Given the description of an element on the screen output the (x, y) to click on. 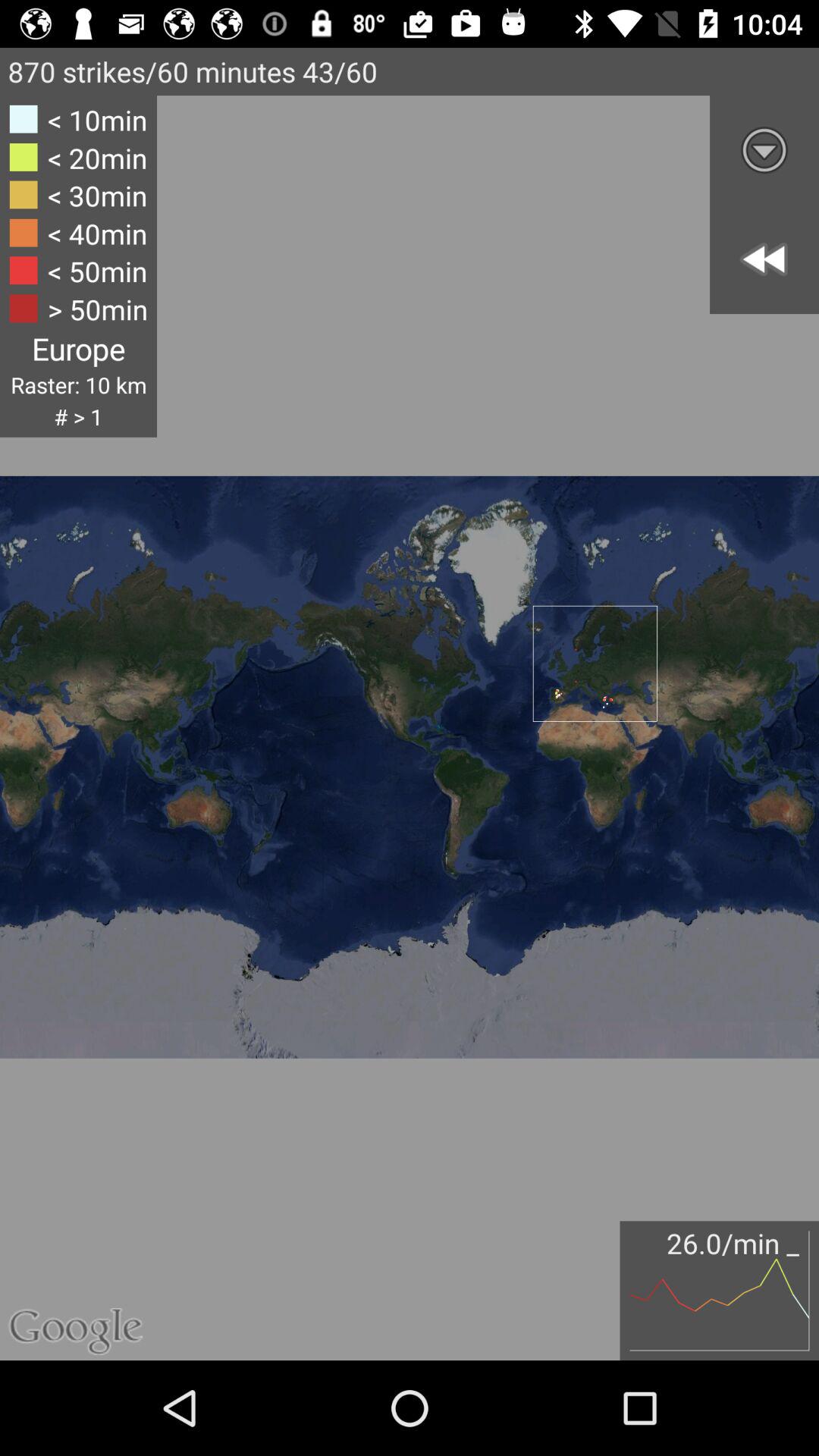
turn on the icon below the 870 strikes 60 item (78, 266)
